Given the description of an element on the screen output the (x, y) to click on. 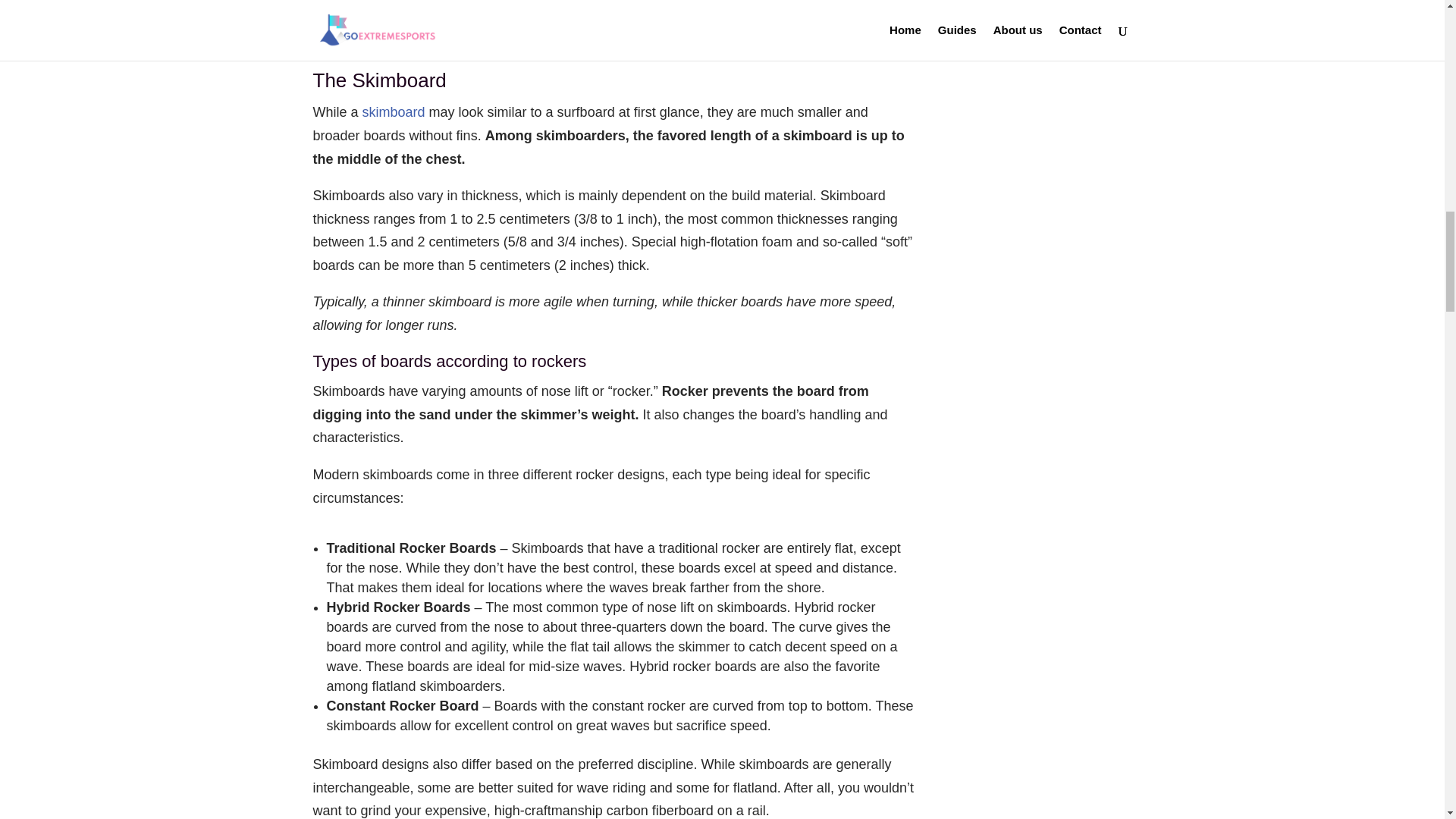
skimboard (393, 111)
